Given the description of an element on the screen output the (x, y) to click on. 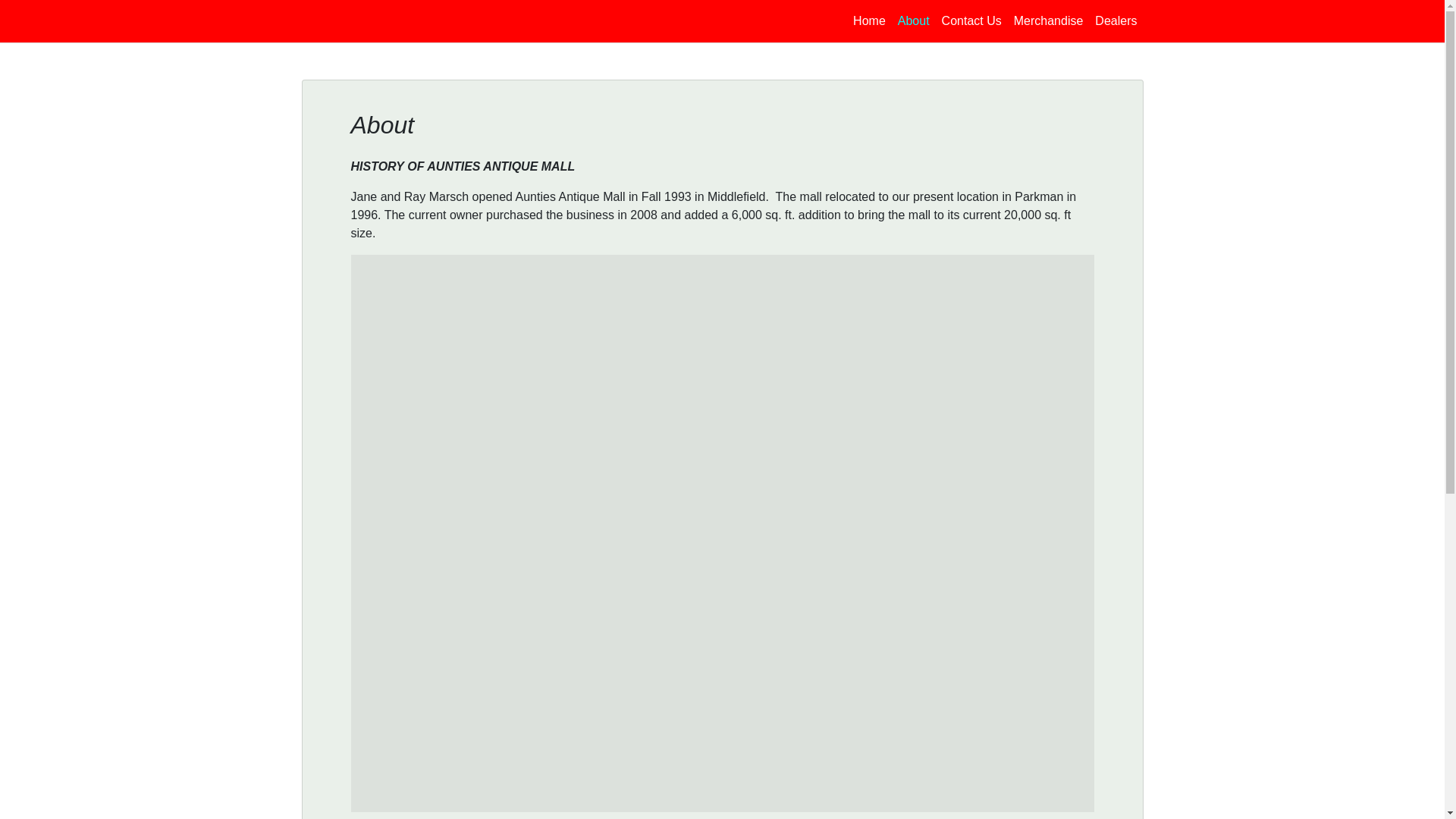
Contact Us (971, 20)
Merchandise (1048, 20)
Home (869, 20)
About (913, 20)
Dealers (1115, 20)
